Given the description of an element on the screen output the (x, y) to click on. 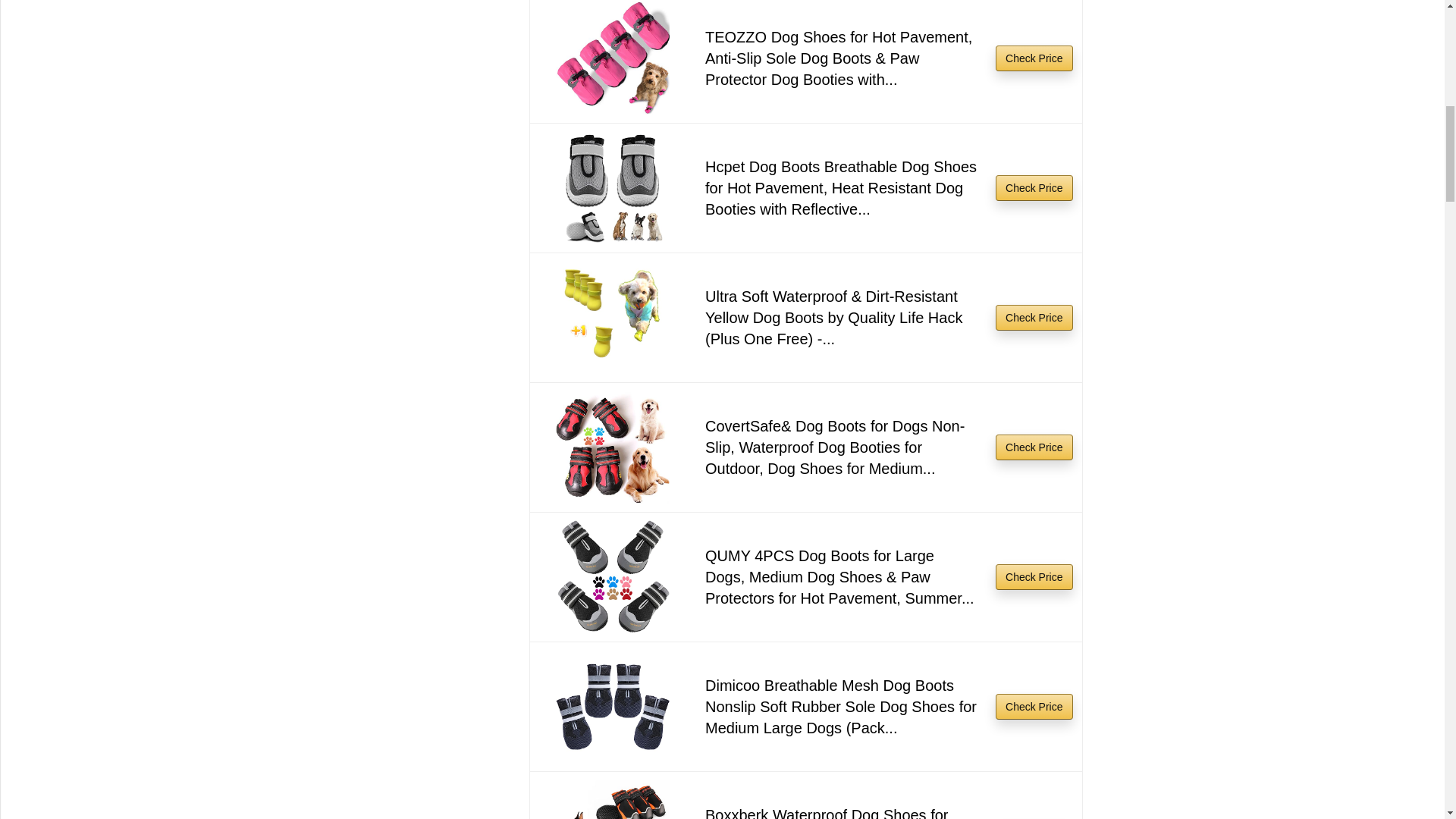
Check Price (1033, 58)
Check Price (1033, 187)
Check Price (1033, 317)
Check Price (1033, 576)
Check Price (1033, 447)
Check Price (1033, 187)
Check Price (1033, 58)
